Given the description of an element on the screen output the (x, y) to click on. 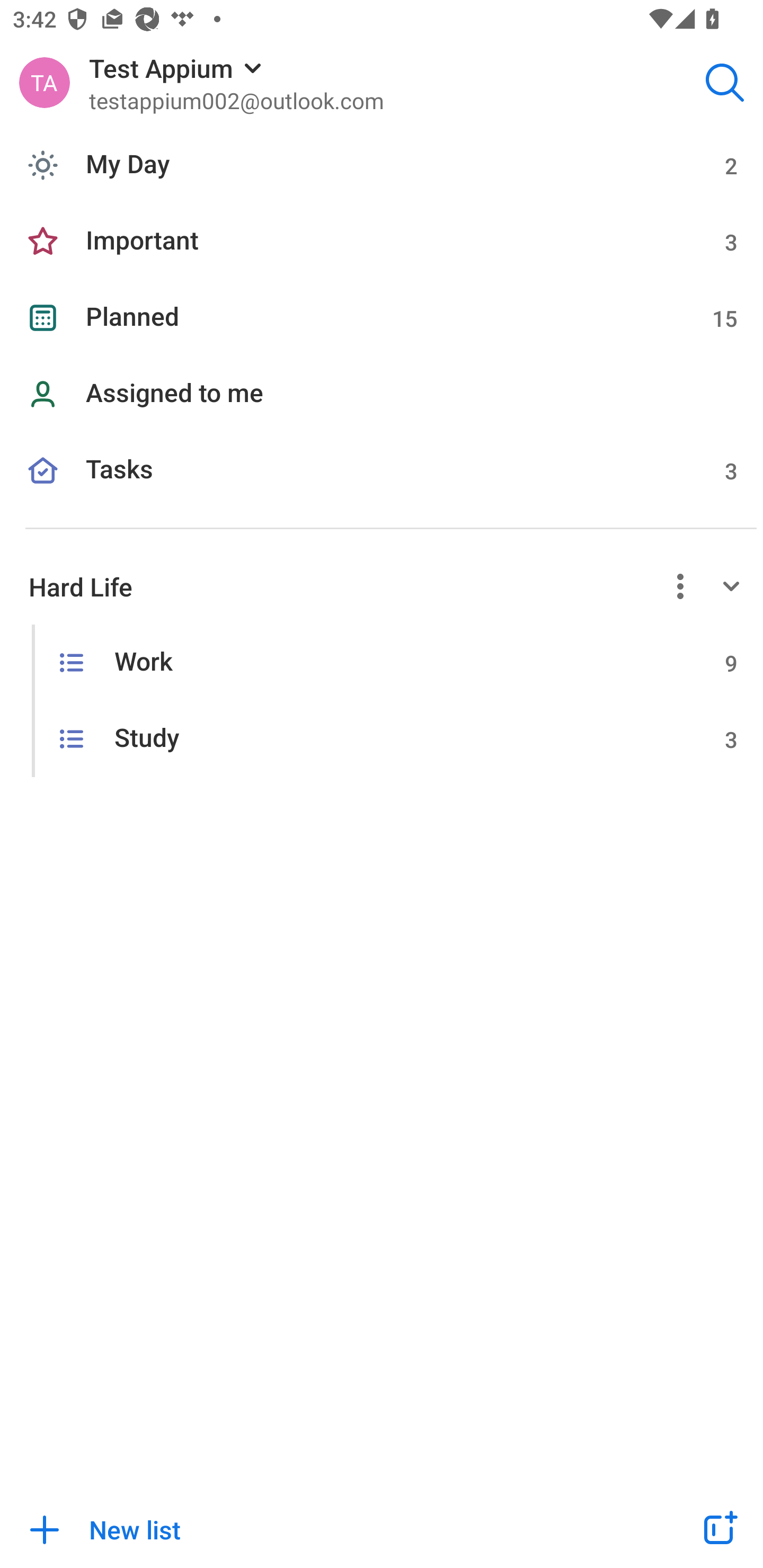
Enter search (724, 81)
